Given the description of an element on the screen output the (x, y) to click on. 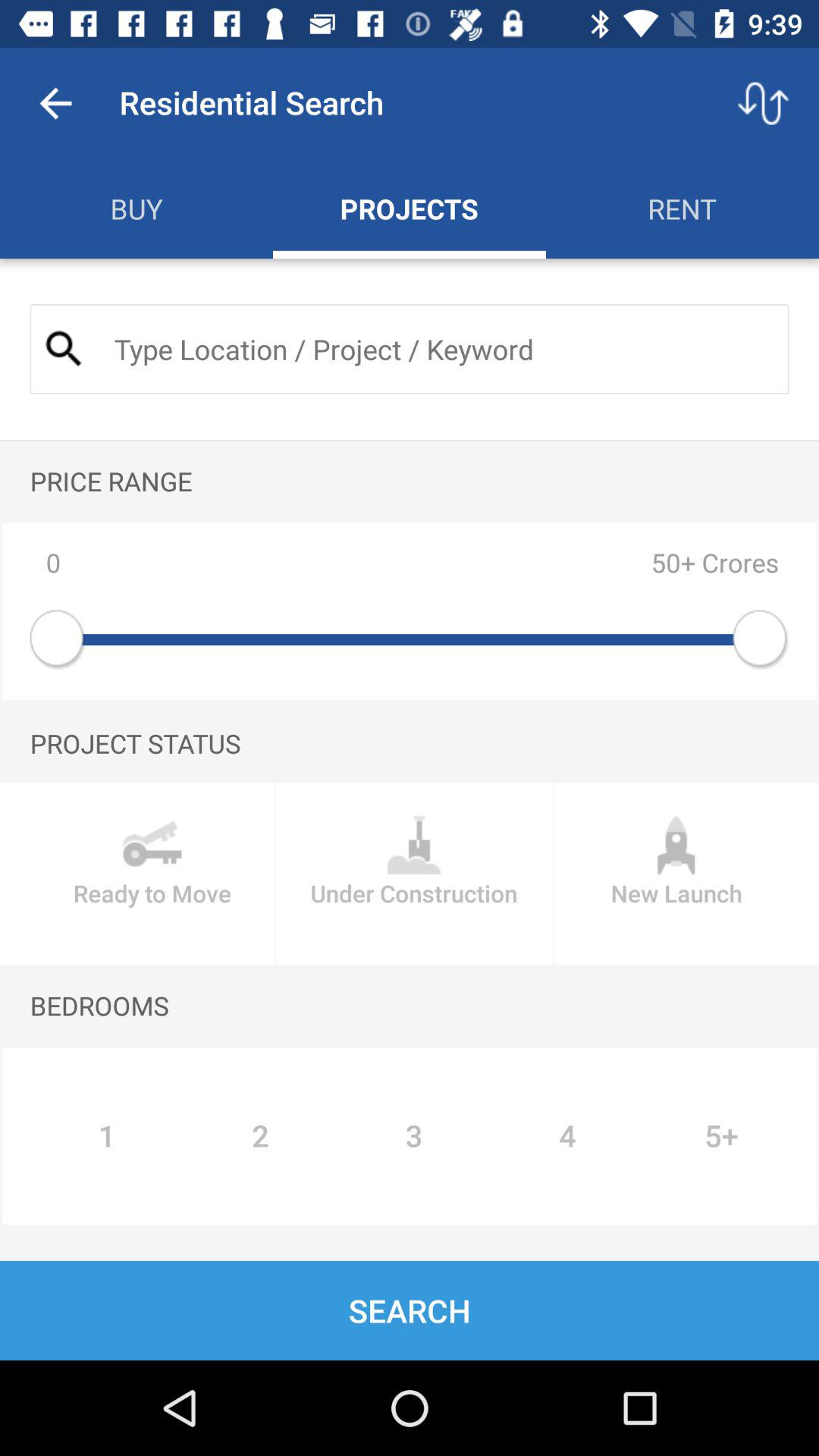
click on 1 at the bottom of the web page (106, 1135)
click on the right side of search icon (437, 349)
click on the level slider (409, 639)
click on the number 3 under bedrooms (413, 1135)
click on the button left to ready to move (414, 874)
